Given the description of an element on the screen output the (x, y) to click on. 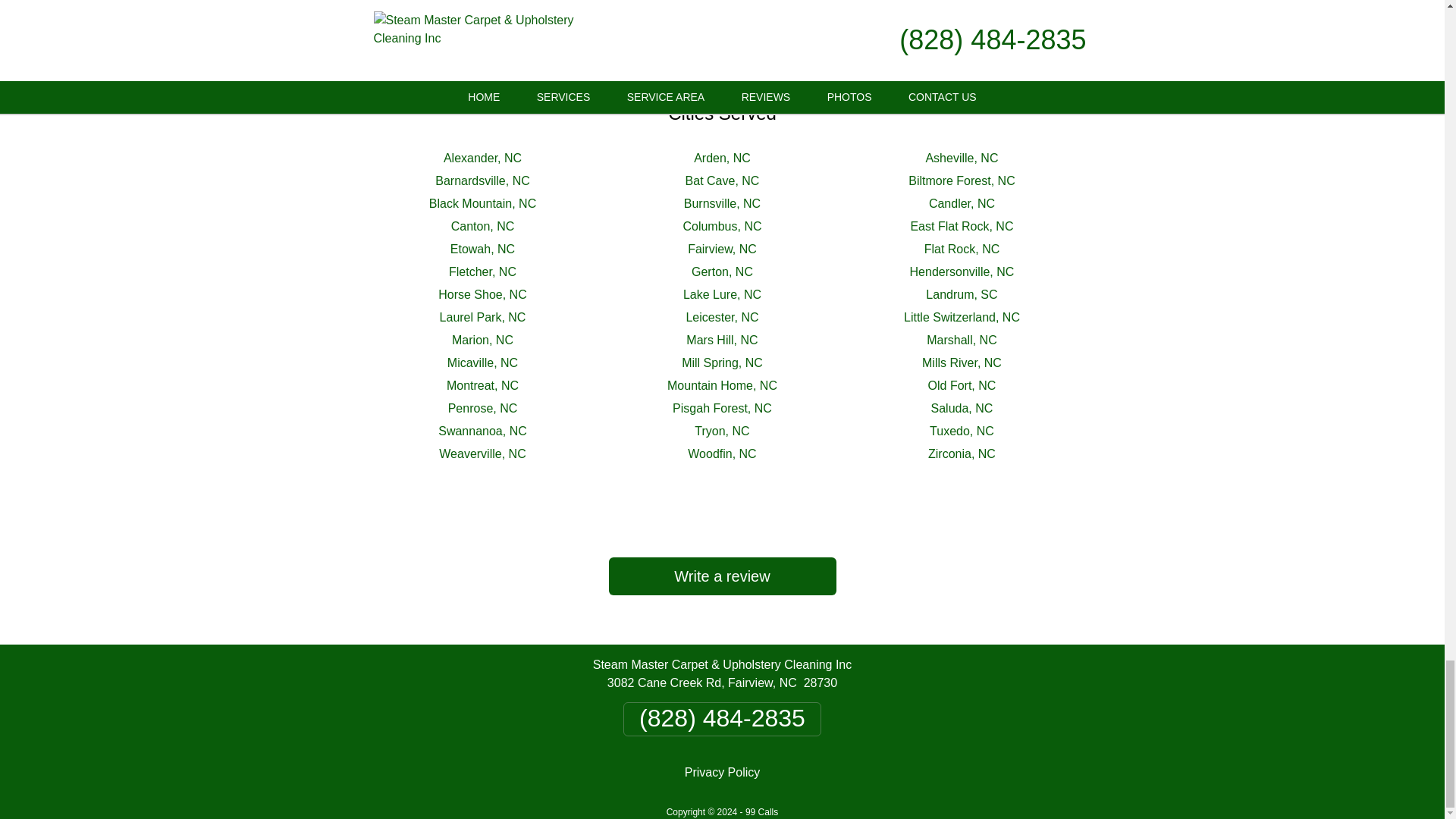
Arden, NC (722, 157)
Barnardsville, NC (482, 180)
Yelp (773, 18)
Alexander, NC (482, 157)
Facebook (690, 18)
Bat Cave, NC (722, 180)
Biltmore Forest, NC (961, 180)
Asheville, NC (960, 157)
Black Mountain, NC (482, 203)
